Given the description of an element on the screen output the (x, y) to click on. 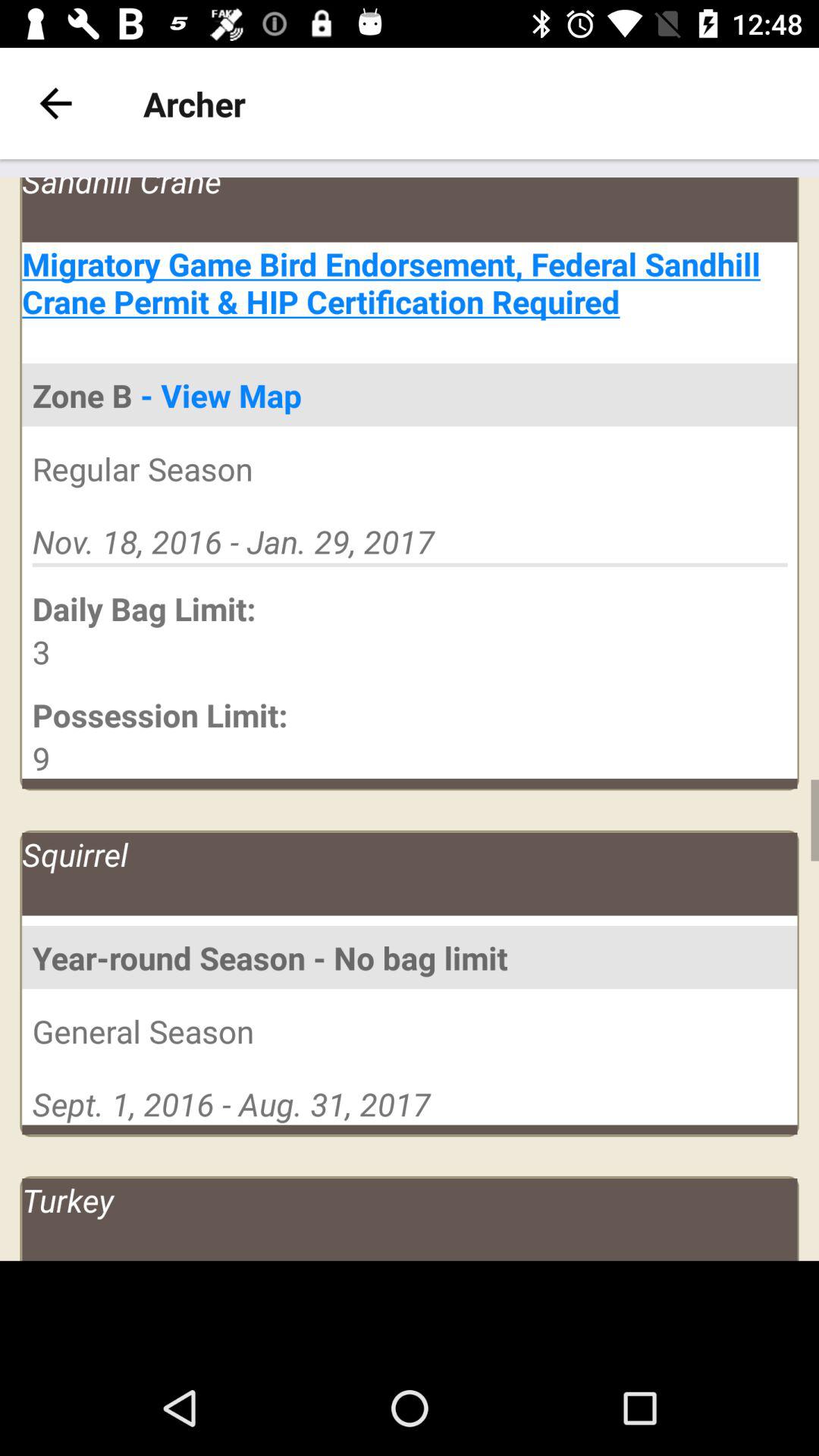
select back button which is on the top left side of page (55, 103)
